Given the description of an element on the screen output the (x, y) to click on. 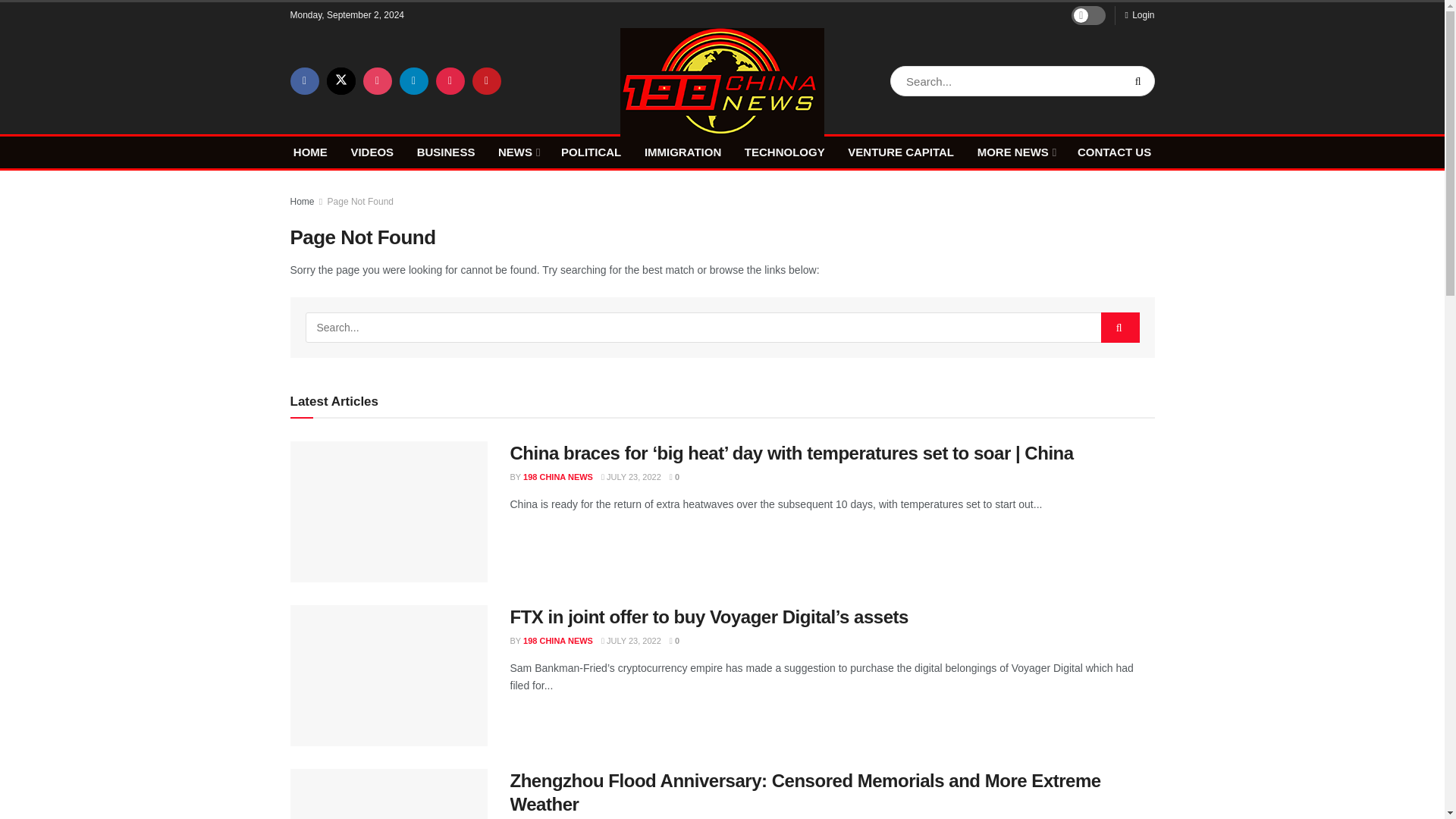
VIDEOS (371, 151)
IMMIGRATION (682, 151)
TECHNOLOGY (784, 151)
CONTACT US (1114, 151)
BUSINESS (446, 151)
MORE NEWS (1015, 151)
NEWS (517, 151)
VENTURE CAPITAL (900, 151)
POLITICAL (590, 151)
Login (1139, 14)
